Given the description of an element on the screen output the (x, y) to click on. 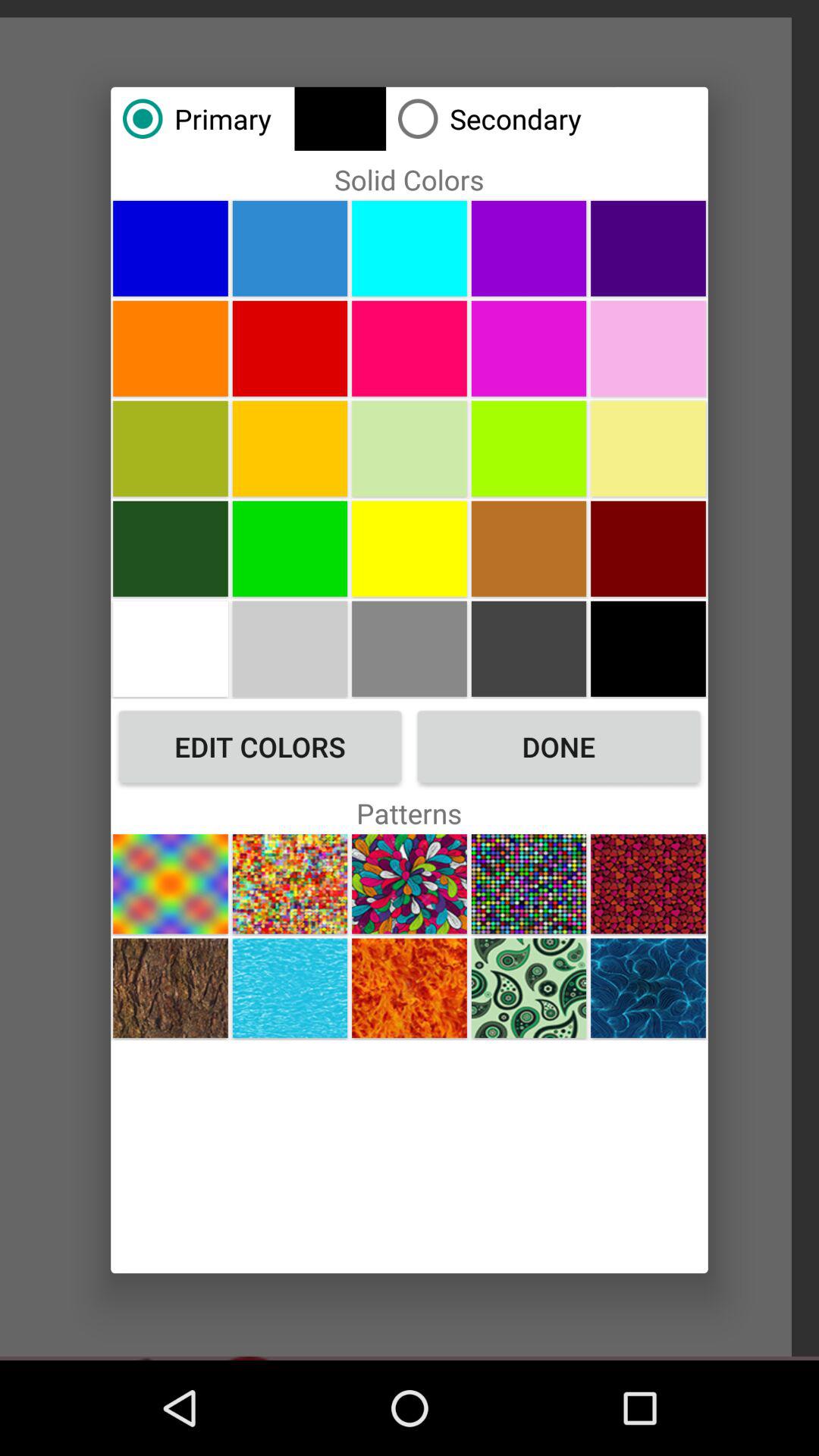
select swirly pattern (528, 987)
